Given the description of an element on the screen output the (x, y) to click on. 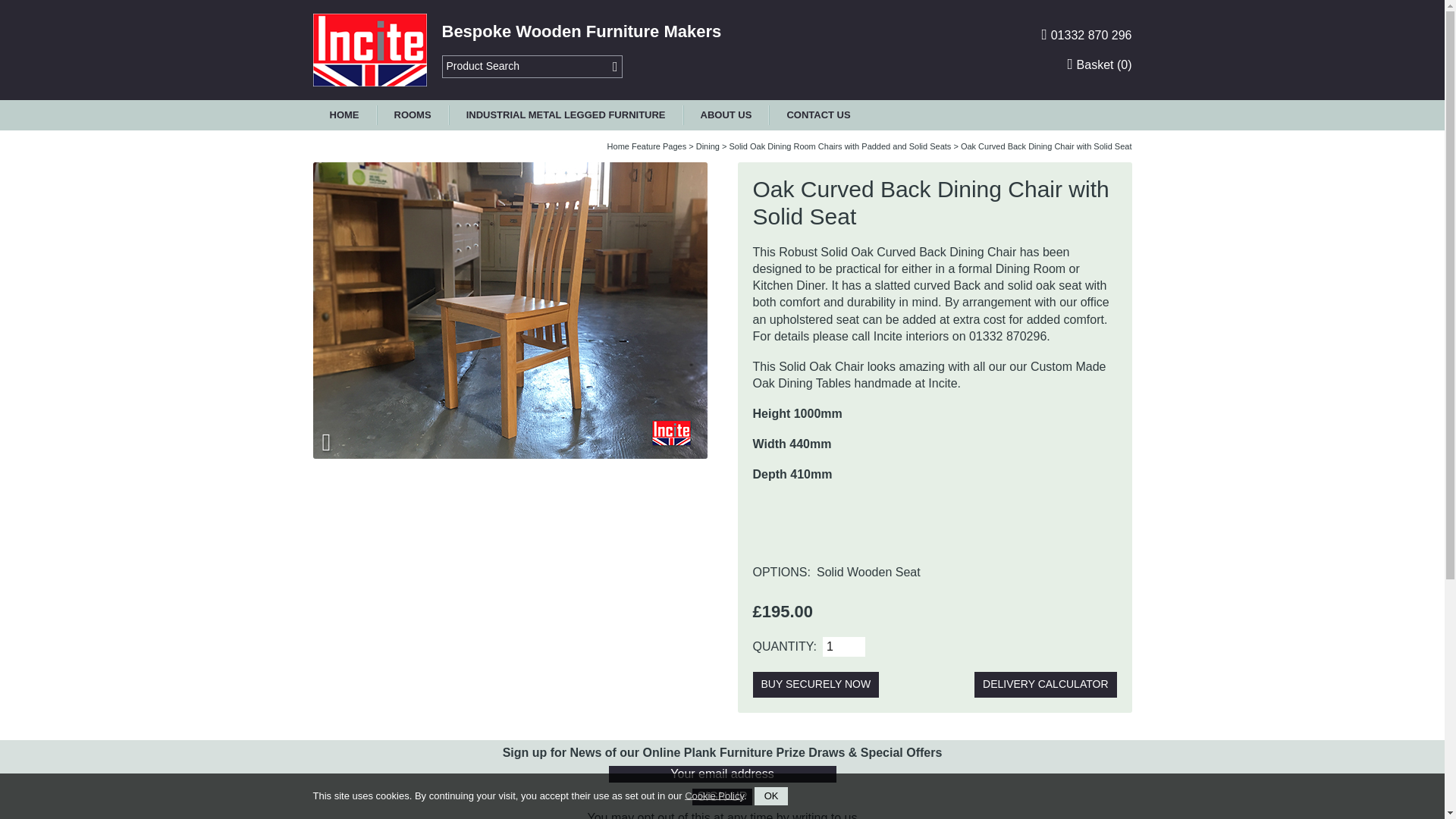
1 (843, 646)
ROOMS (412, 114)
INDUSTRIAL METAL LEGGED FURNITURE (565, 114)
Buy Securely Now (815, 684)
Buy Securely Now (815, 684)
Delivery Calculator (1045, 684)
Sign Up (722, 796)
Sign Up (722, 796)
Solid Oak Dining Room Chairs with Padded and Solid Seats (839, 145)
HOME (344, 114)
CONTACT US (818, 114)
ABOUT US (726, 114)
Dining (707, 145)
Home Feature Pages (647, 145)
